Given the description of an element on the screen output the (x, y) to click on. 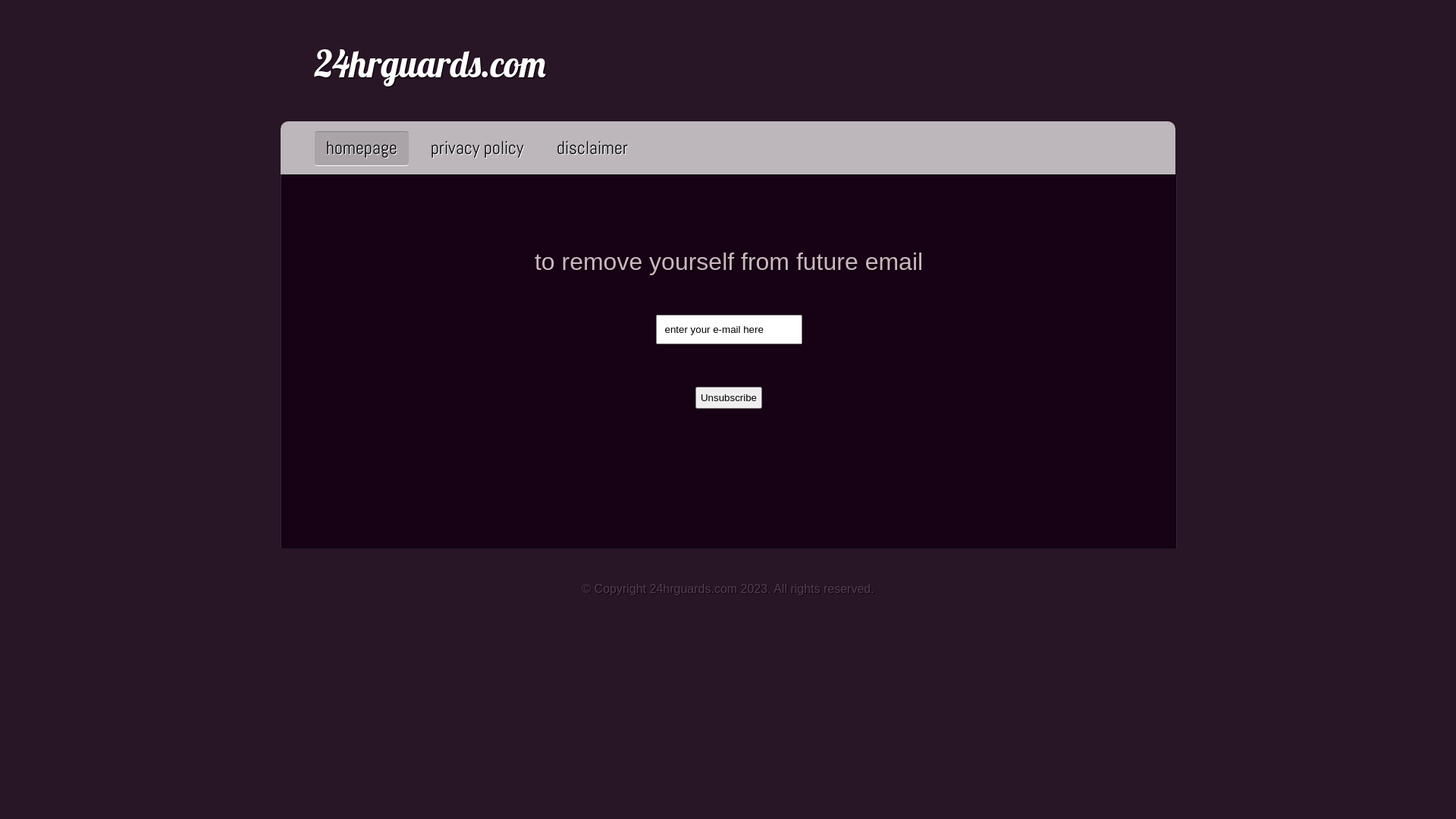
disclaimer Element type: text (591, 147)
24hrguards.com Element type: text (430, 63)
enter your e-mail here Element type: text (728, 329)
homepage Element type: text (361, 147)
privacy policy Element type: text (476, 147)
Unsubscribe Element type: text (728, 397)
